Given the description of an element on the screen output the (x, y) to click on. 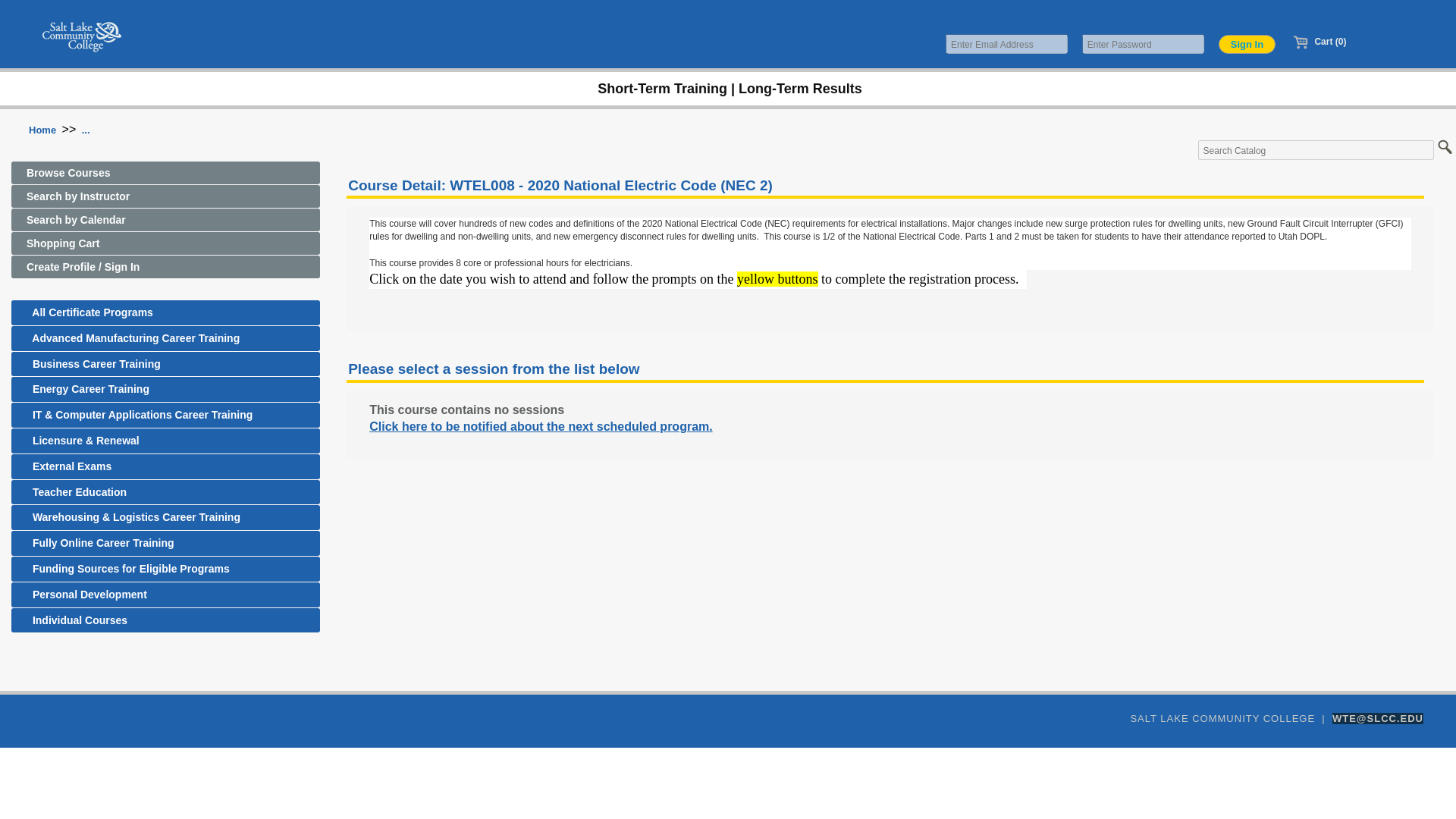
Home (42, 130)
Fully Online Career Training (165, 543)
Sign In (1246, 44)
Business Career Training (165, 364)
Funding Sources for Eligible Programs (165, 568)
Advanced Manufacturing Career Training (165, 338)
External Exams (165, 466)
Enter Email Address (1005, 44)
Search by Calendar (165, 219)
Energy Career Training (165, 389)
Click here to be notified about the next scheduled program. (541, 426)
Teacher Education (165, 492)
Enter Password (1142, 44)
Sign In (1246, 44)
Search Catalog (1316, 149)
